Given the description of an element on the screen output the (x, y) to click on. 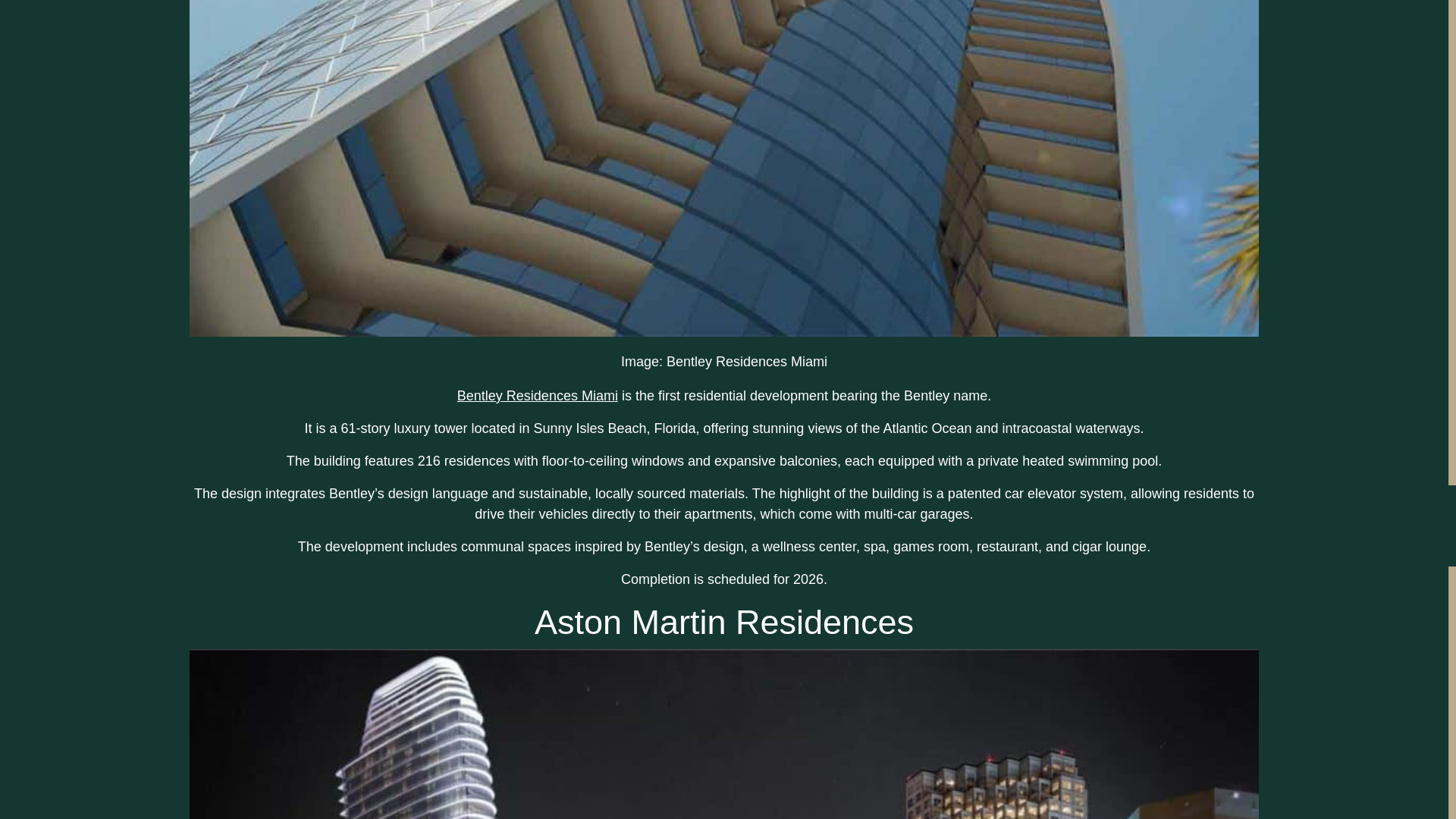
Bentley Residences Miami (537, 395)
